Given the description of an element on the screen output the (x, y) to click on. 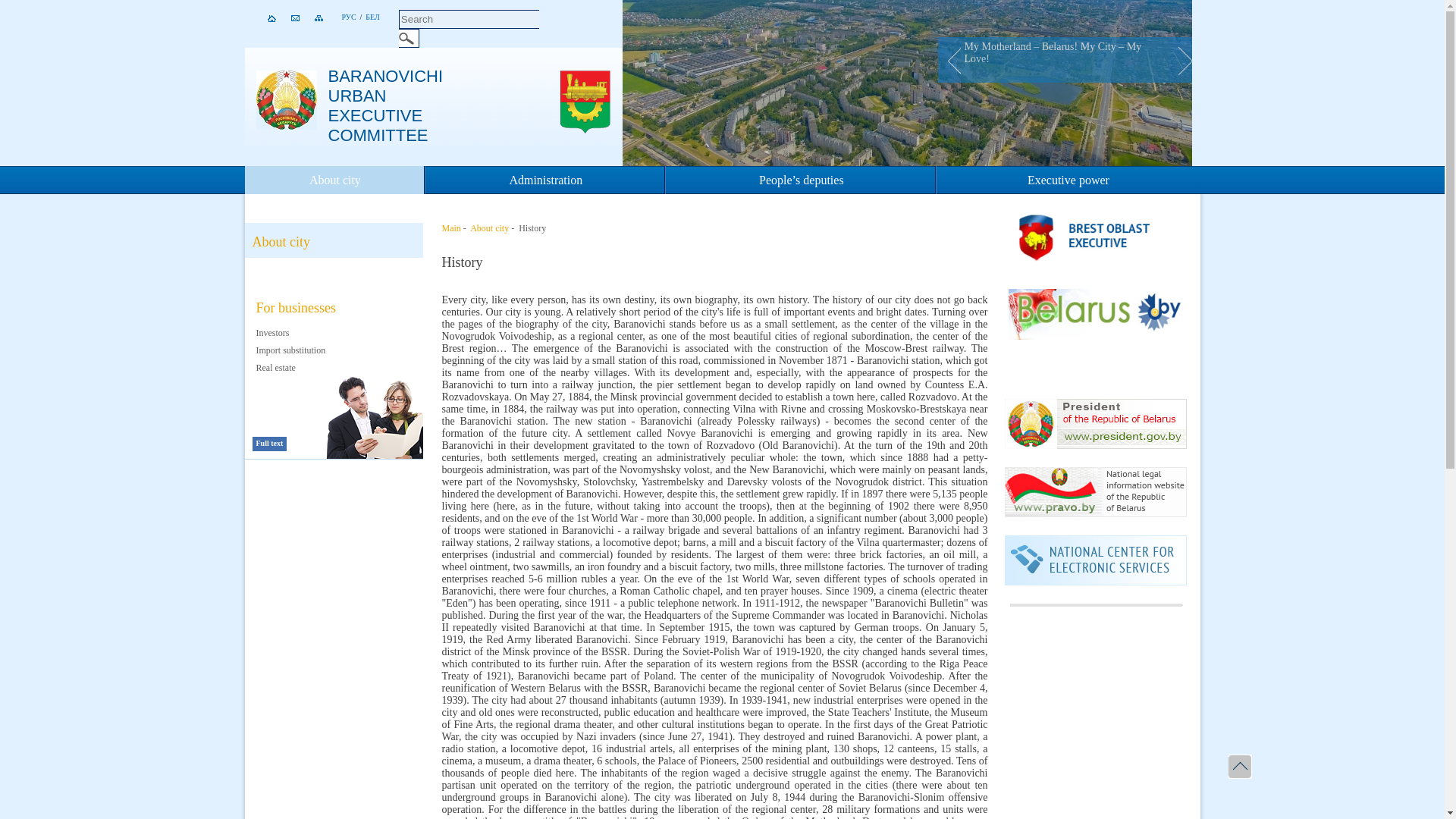
Main page (277, 19)
Import substitution (291, 350)
State emblem of the Republic of Belarus (286, 126)
About city (489, 227)
Send letter (302, 18)
Administration (545, 180)
Full text (269, 442)
About city (334, 180)
Administration (545, 180)
Sitemap (325, 18)
